Given the description of an element on the screen output the (x, y) to click on. 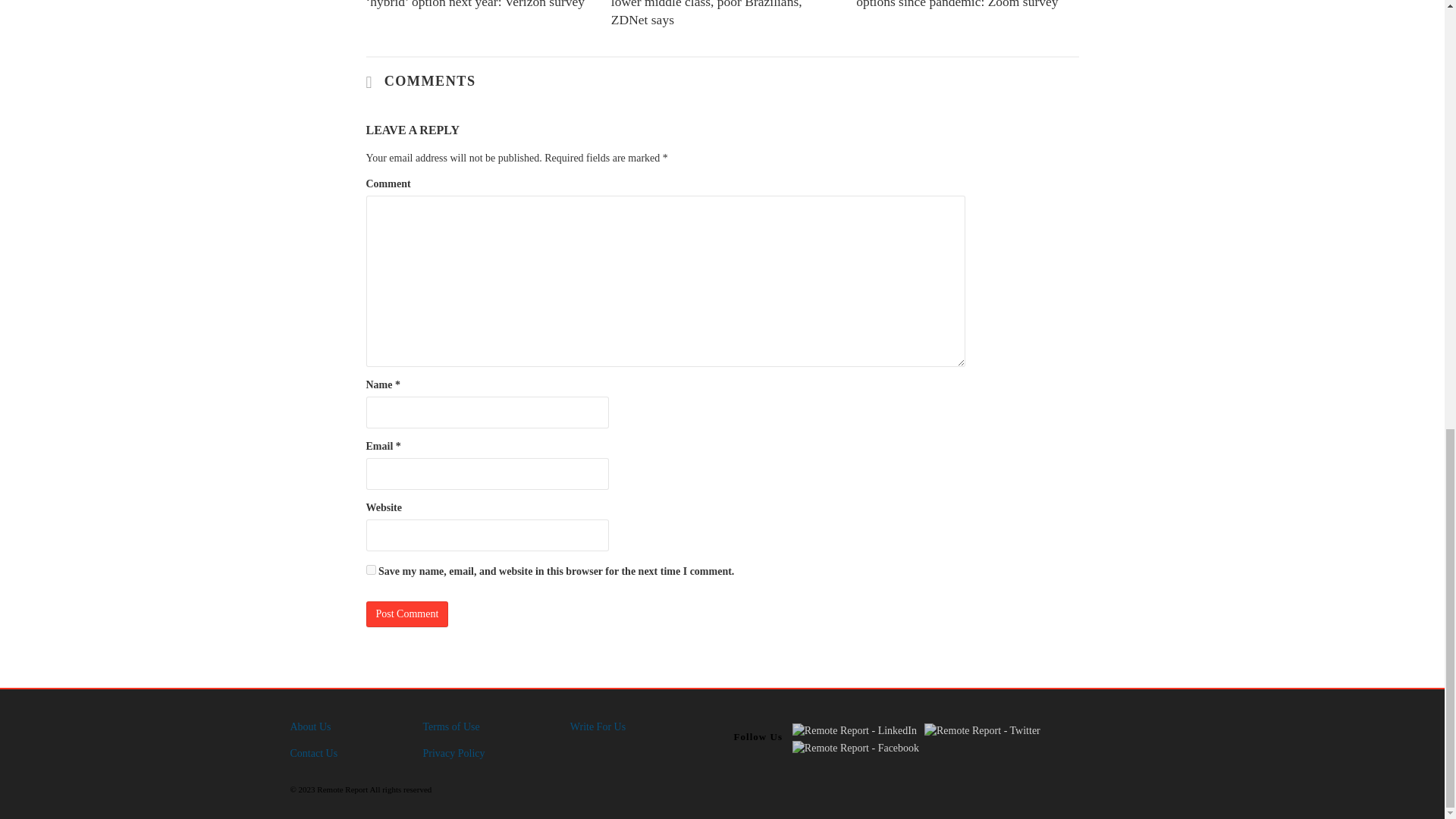
Post Comment (406, 614)
About Us (309, 726)
Post Comment (406, 614)
Remote Report - Facebook (855, 748)
Remote Report - LinkedIn (854, 730)
yes (370, 569)
Contact Us (313, 753)
Remote Report - Twitter (982, 730)
